Given the description of an element on the screen output the (x, y) to click on. 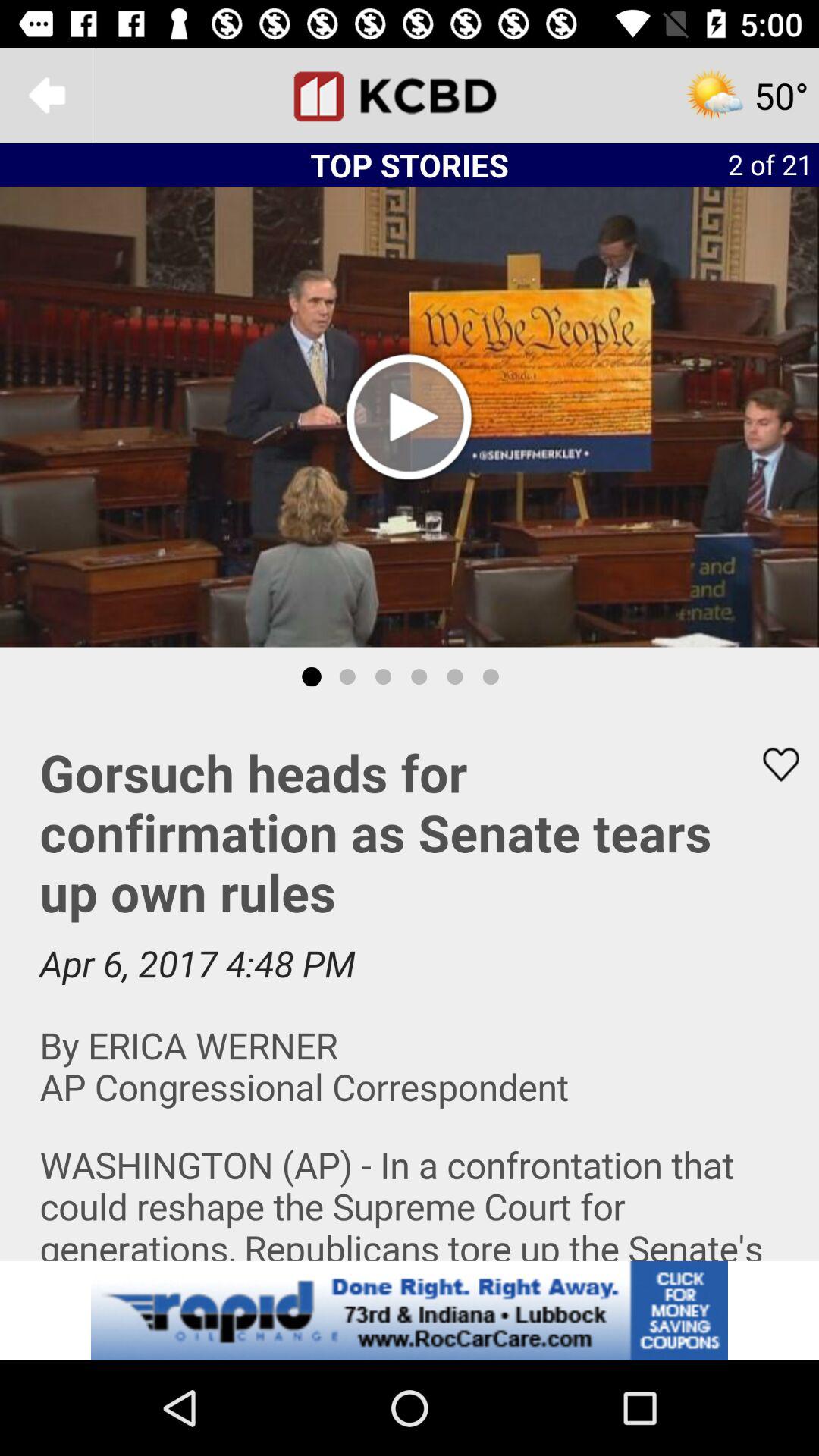
love (771, 764)
